Given the description of an element on the screen output the (x, y) to click on. 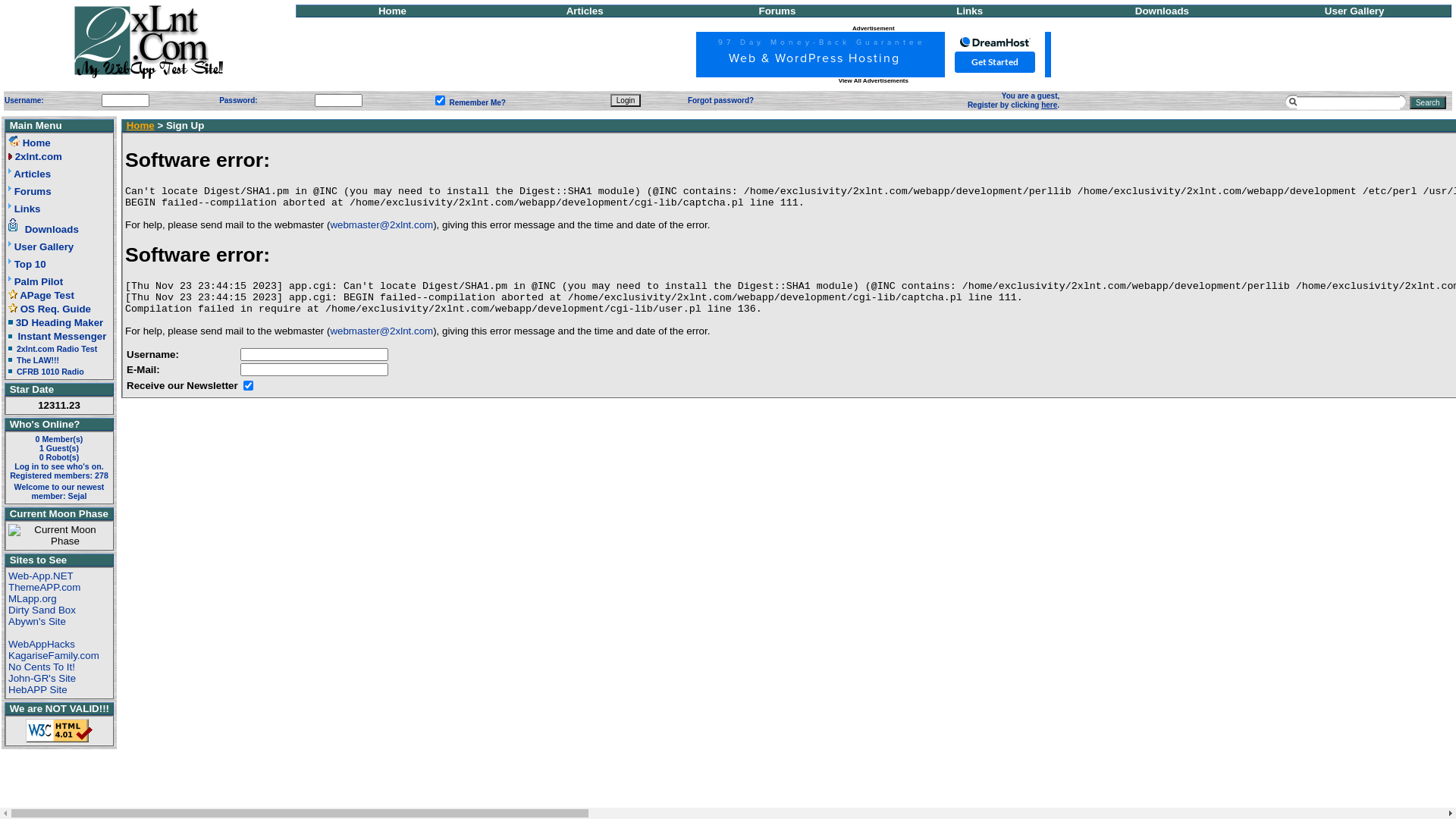
Articles Element type: text (31, 173)
CFRB 1010 Radio Element type: text (50, 371)
Articles Element type: text (584, 10)
Forums Element type: text (776, 10)
Abywn's Site Element type: text (36, 621)
2xlnt.com Element type: text (38, 155)
Web-App.NET Element type: text (40, 575)
KagariseFamily.com Element type: text (53, 654)
Advanced Search Element type: hover (1290, 101)
Forums Element type: text (32, 190)
View All Advertisements Element type: text (873, 80)
Links Element type: text (969, 10)
Instant Messenger Element type: text (61, 336)
Top 10 Element type: text (30, 263)
ThemeAPP.com Element type: text (44, 586)
John-GR's Site Element type: text (41, 677)
HebAPP Site Element type: text (37, 689)
User Gallery Element type: text (1354, 10)
webmaster@2xlnt.com Element type: text (381, 224)
OS Req. Guide Element type: text (55, 308)
Search Element type: text (1427, 102)
Home Element type: text (36, 141)
3D Heading Maker Element type: text (59, 322)
here Element type: text (1049, 104)
Palm Pilot Element type: text (38, 281)
User Gallery Element type: text (44, 246)
WebAppHacks Element type: text (41, 643)
APage Test Element type: text (46, 295)
No Cents To It! Element type: text (41, 666)
webmaster@2xlnt.com Element type: text (381, 330)
MLapp.org Element type: text (32, 598)
Forgot password? Element type: text (720, 99)
The LAW!!! Element type: text (37, 359)
Dirty Sand Box Element type: text (41, 609)
Home Element type: text (140, 125)
Downloads Element type: text (51, 228)
Downloads Element type: text (1162, 10)
Login Element type: text (625, 100)
2xlnt.com Radio Test Element type: text (56, 348)
Home Element type: text (392, 10)
Links Element type: text (27, 208)
